Given the description of an element on the screen output the (x, y) to click on. 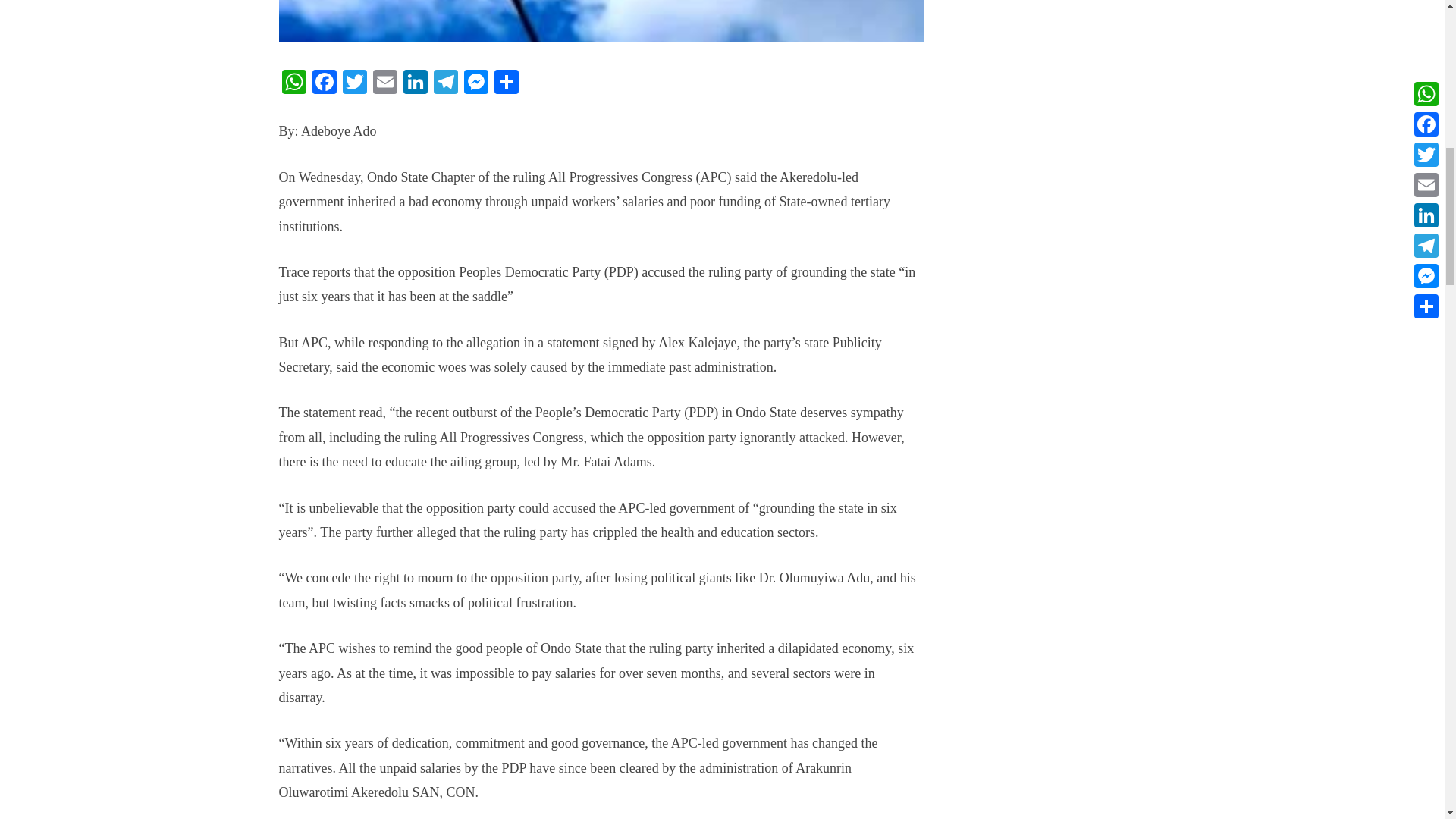
Email (384, 83)
Facebook (323, 83)
Twitter (354, 83)
Telegram (445, 83)
WhatsApp (293, 83)
WhatsApp (293, 83)
LinkedIn (415, 83)
Telegram (445, 83)
Messenger (476, 83)
Email (384, 83)
